Given the description of an element on the screen output the (x, y) to click on. 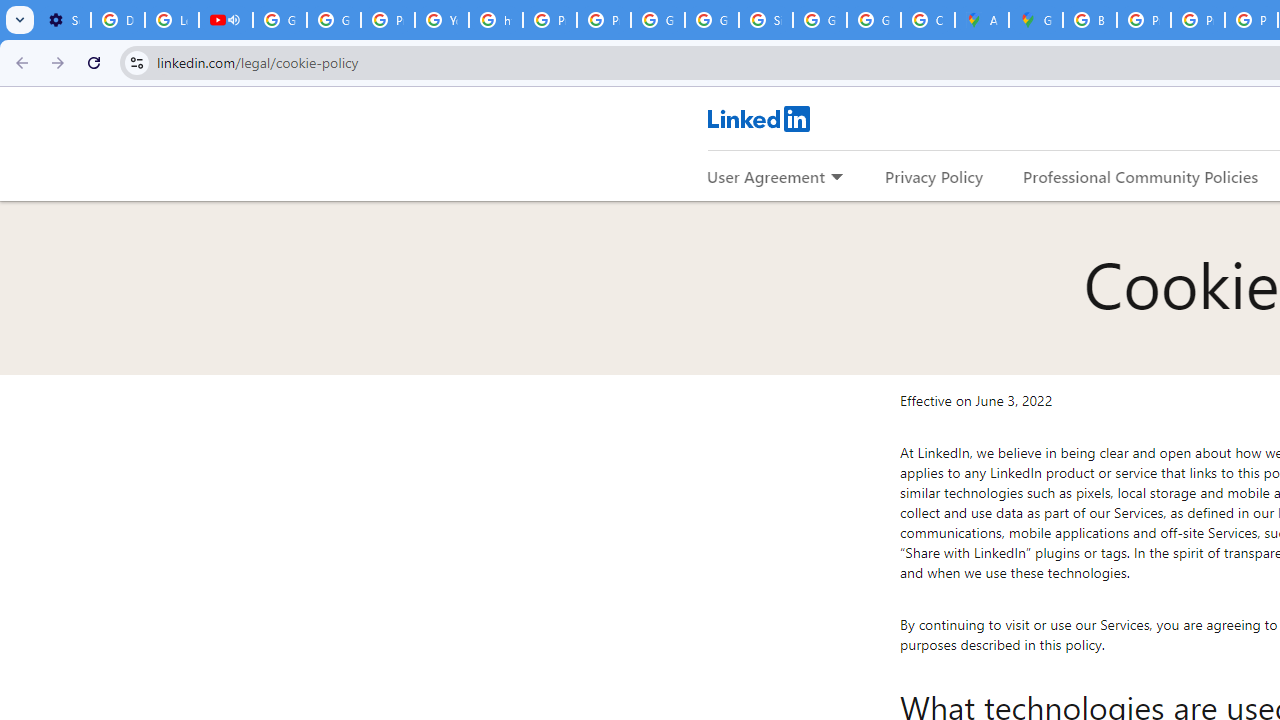
User Agreement (765, 176)
Privacy Help Center - Policies Help (1144, 20)
Privacy Help Center - Policies Help (387, 20)
Professional Community Policies (1140, 176)
LinkedIn Logo (758, 118)
Sign in - Google Accounts (765, 20)
Privacy Policy (934, 176)
Blogger Policies and Guidelines - Transparency Center (1089, 20)
Expand to show more links for User Agreement (836, 178)
